Given the description of an element on the screen output the (x, y) to click on. 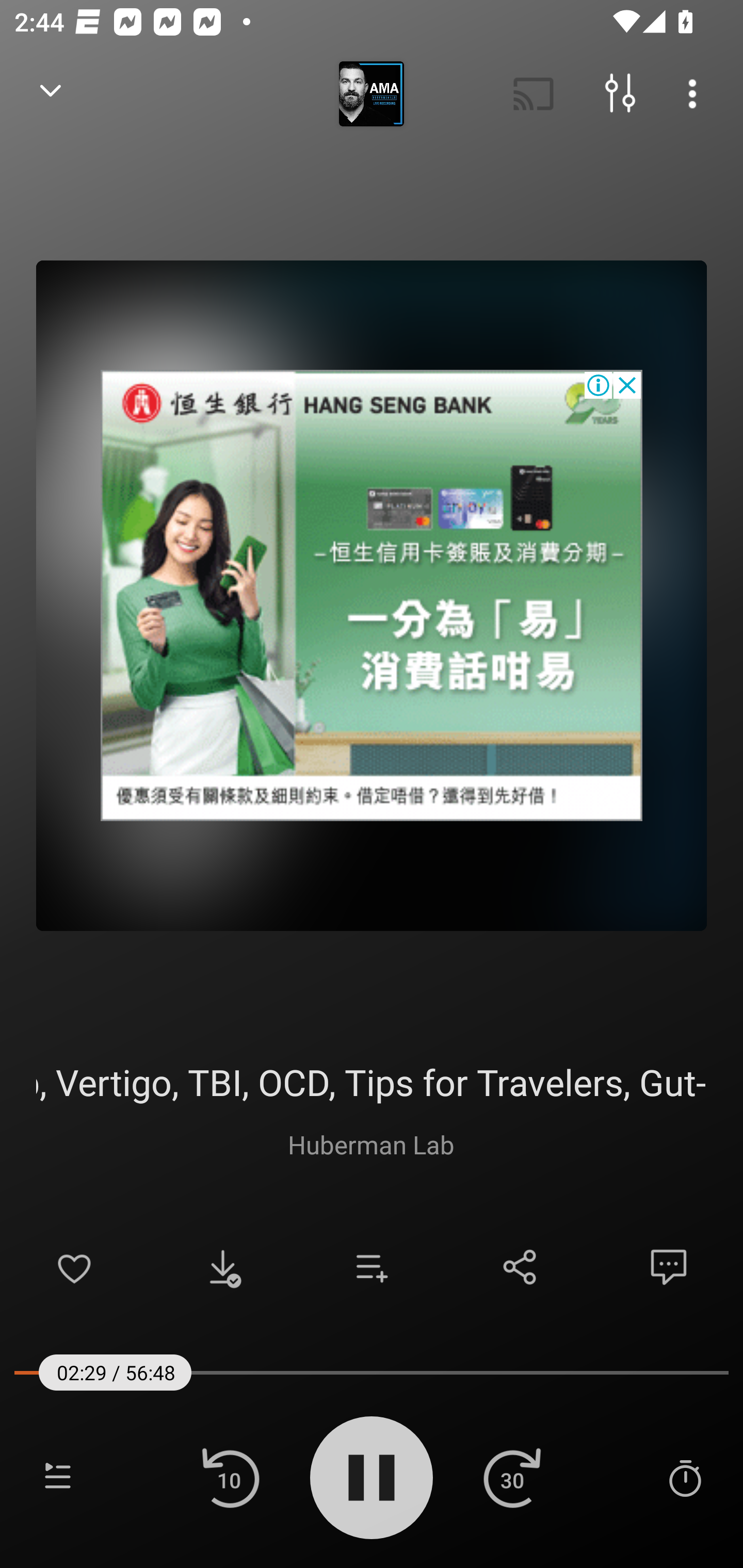
Cast. Disconnected (533, 93)
 Back (50, 94)
Advertisement (371, 595)
Huberman Lab (370, 1144)
Comments (668, 1266)
Add to Favorites (73, 1266)
Add to playlist (371, 1266)
Share (519, 1266)
 Playlist (57, 1477)
Sleep Timer  (684, 1477)
